Given the description of an element on the screen output the (x, y) to click on. 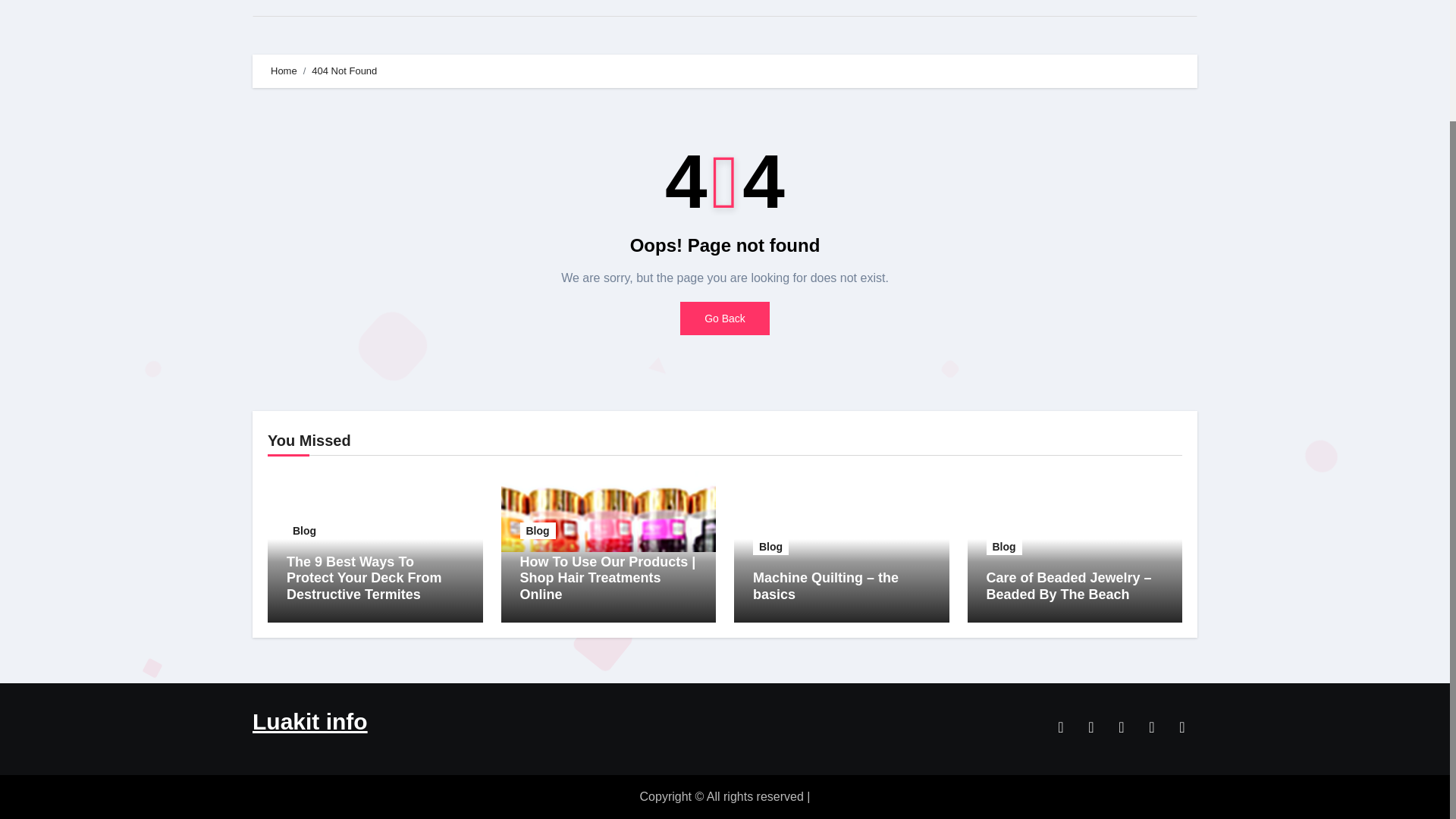
Home (282, 7)
Blog (1003, 546)
Home (282, 7)
Luakit info (309, 721)
Home (283, 70)
Blog (303, 530)
Go Back (724, 318)
Blog (537, 530)
Blog (770, 546)
